Given the description of an element on the screen output the (x, y) to click on. 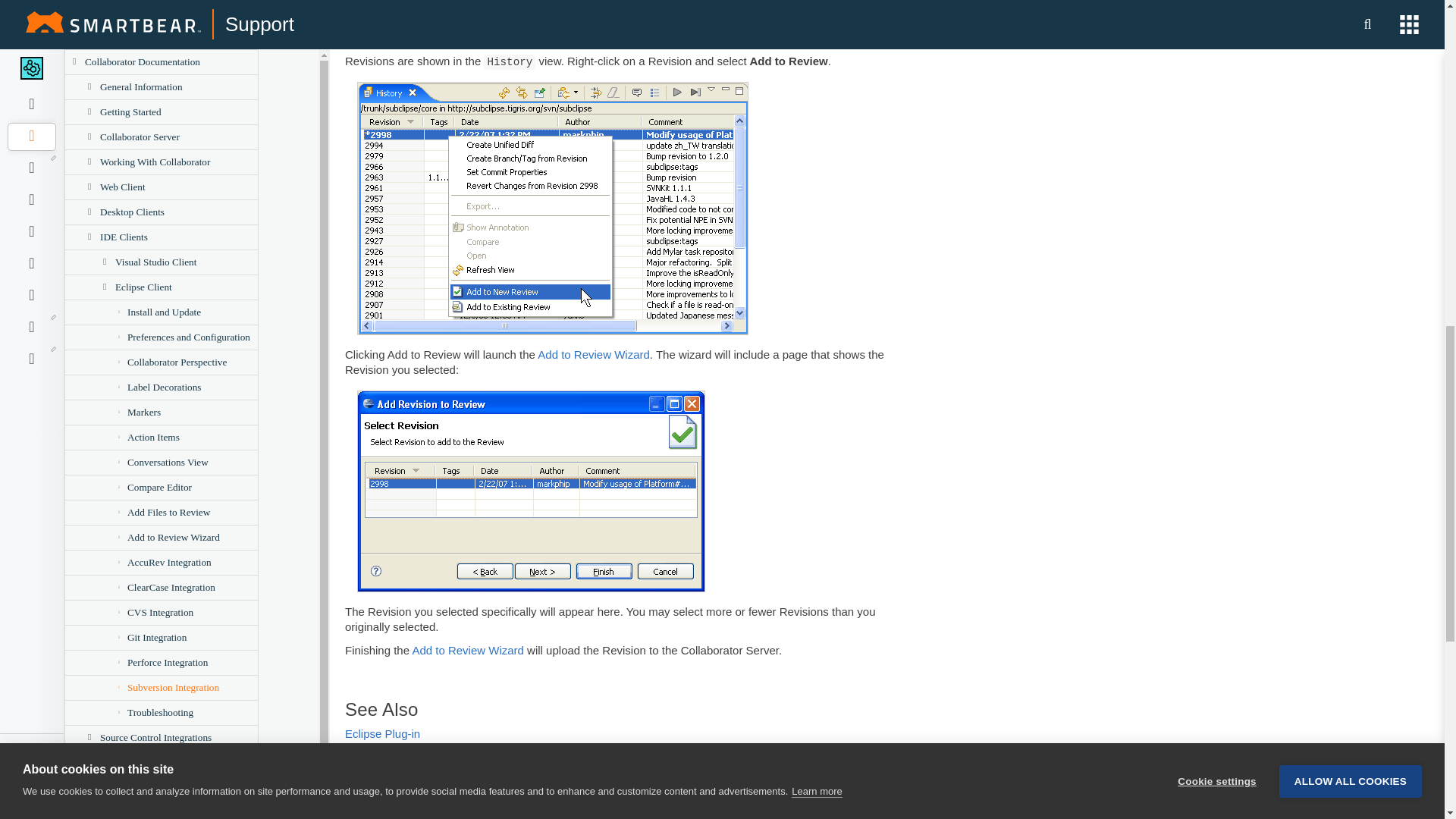
Cookie settings (1216, 20)
Learn more (816, 45)
ALLOW ALL COOKIES (1350, 13)
